Given the description of an element on the screen output the (x, y) to click on. 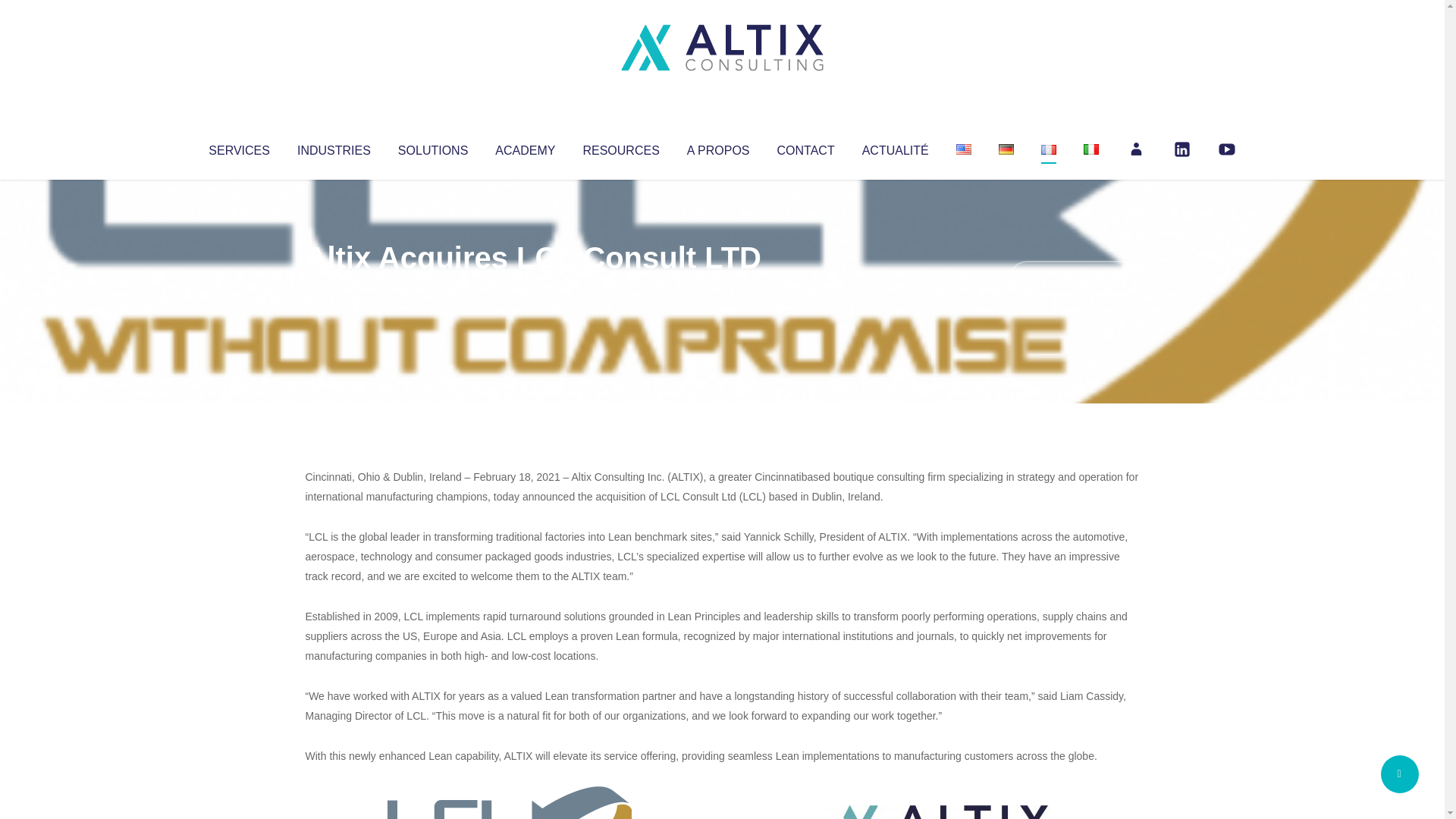
INDUSTRIES (334, 146)
Articles par Altix (333, 287)
Uncategorized (530, 287)
Altix (333, 287)
A PROPOS (718, 146)
SOLUTIONS (432, 146)
ACADEMY (524, 146)
RESOURCES (620, 146)
SERVICES (238, 146)
No Comments (1073, 278)
